Given the description of an element on the screen output the (x, y) to click on. 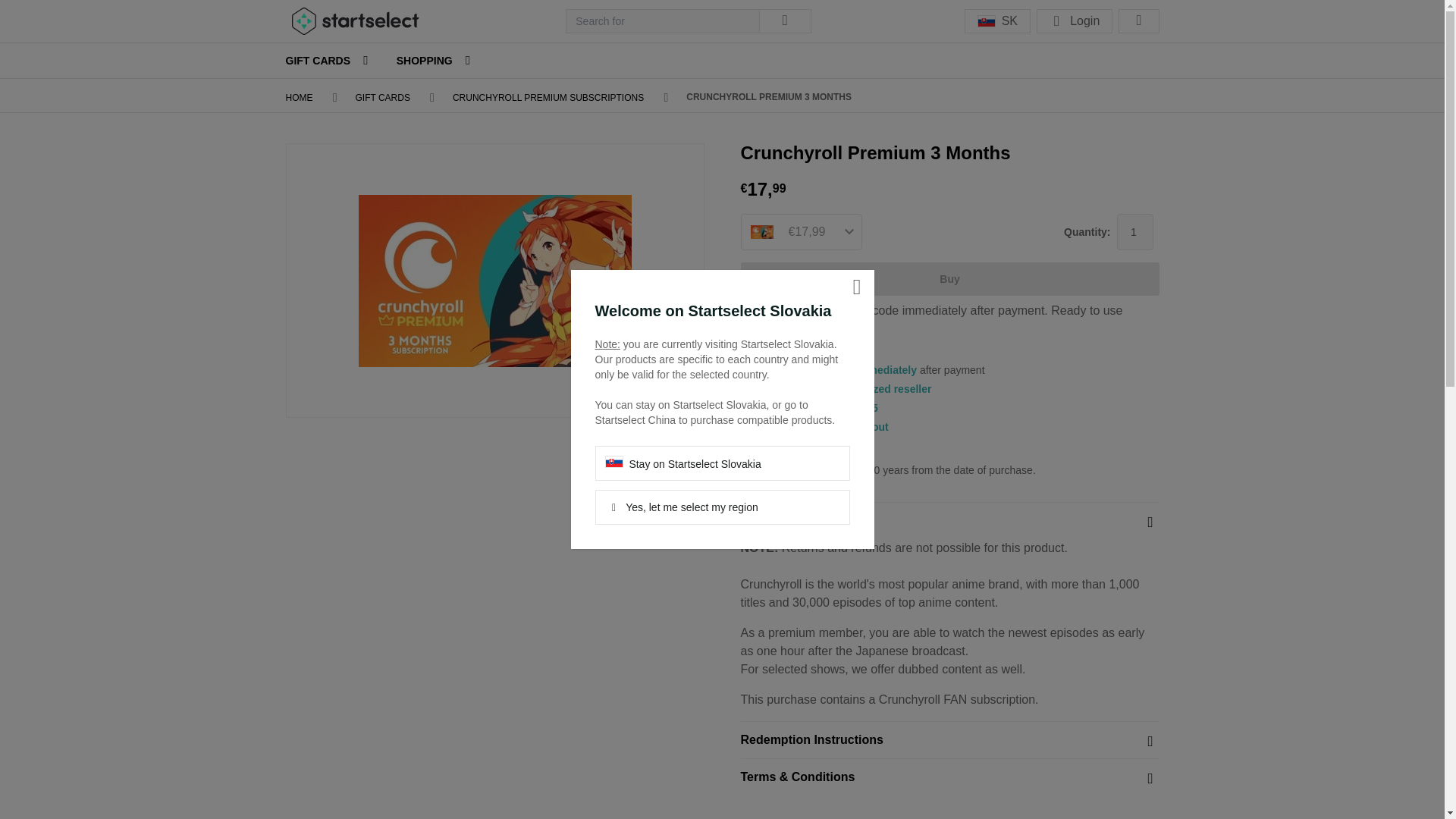
Gift cards (318, 60)
Buy (948, 278)
GIFT CARDS (318, 60)
Product info (948, 520)
1 (1134, 231)
Shopping (425, 60)
Go to cart (1138, 21)
SHOPPING (425, 60)
GIFT CARDS (382, 97)
Redemption Instructions (948, 739)
